Given the description of an element on the screen output the (x, y) to click on. 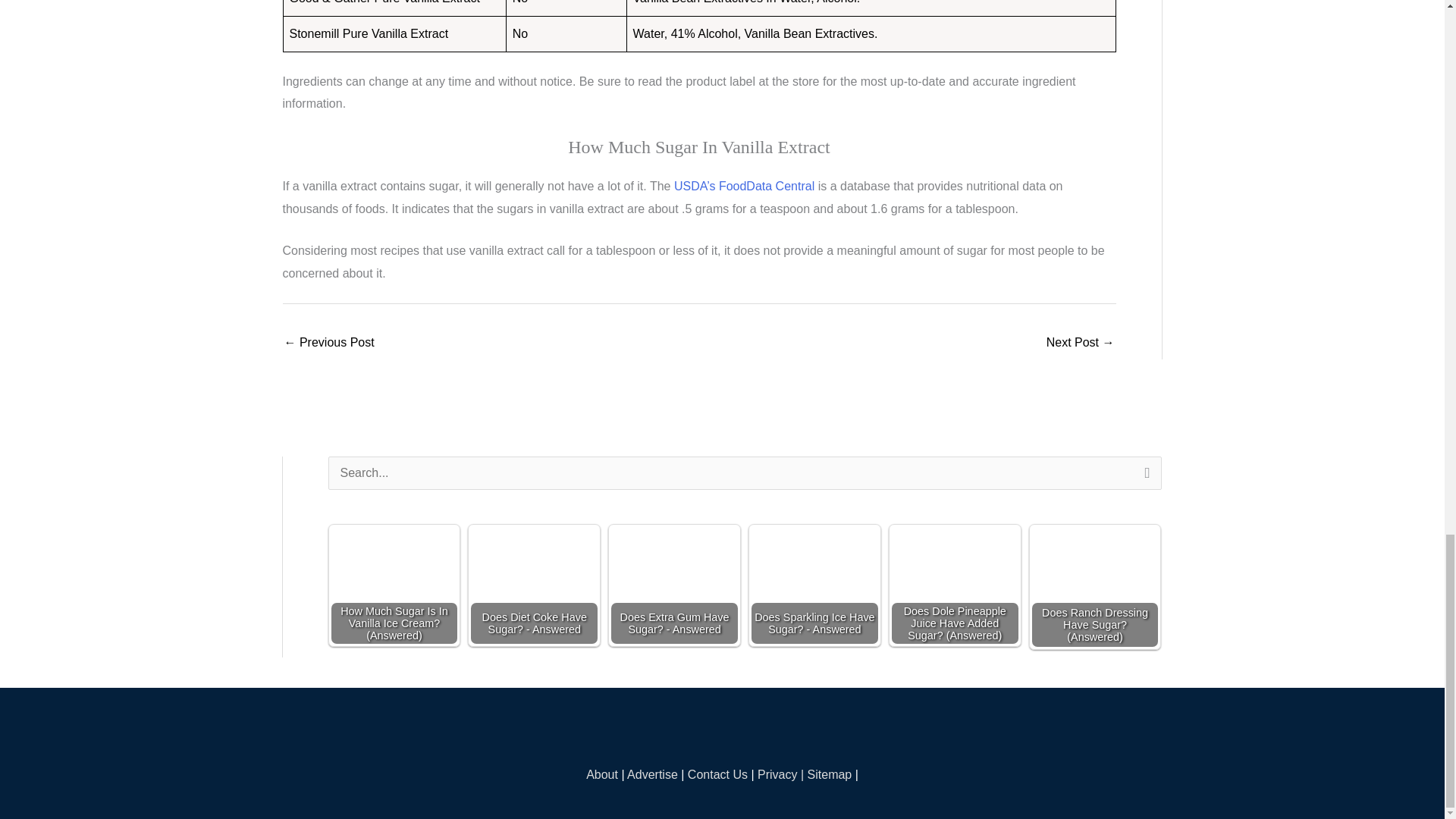
Does Sparkling Ice Have Sugar? - Answered (814, 585)
Does Extra Gum Have Sugar? - Answered (673, 585)
Does Sparkling Ice Have Sugar? - Answered (813, 583)
Advertise (652, 774)
Does Diet Coke Have Sugar? - Answered (534, 583)
Does Diet Coke Have Sugar? - Answered (533, 585)
DMCA.com Protection Status (722, 730)
Does Extra Gum Have Sugar? - Answered (674, 583)
Sitemap (829, 774)
Contact Us (717, 774)
